Given the description of an element on the screen output the (x, y) to click on. 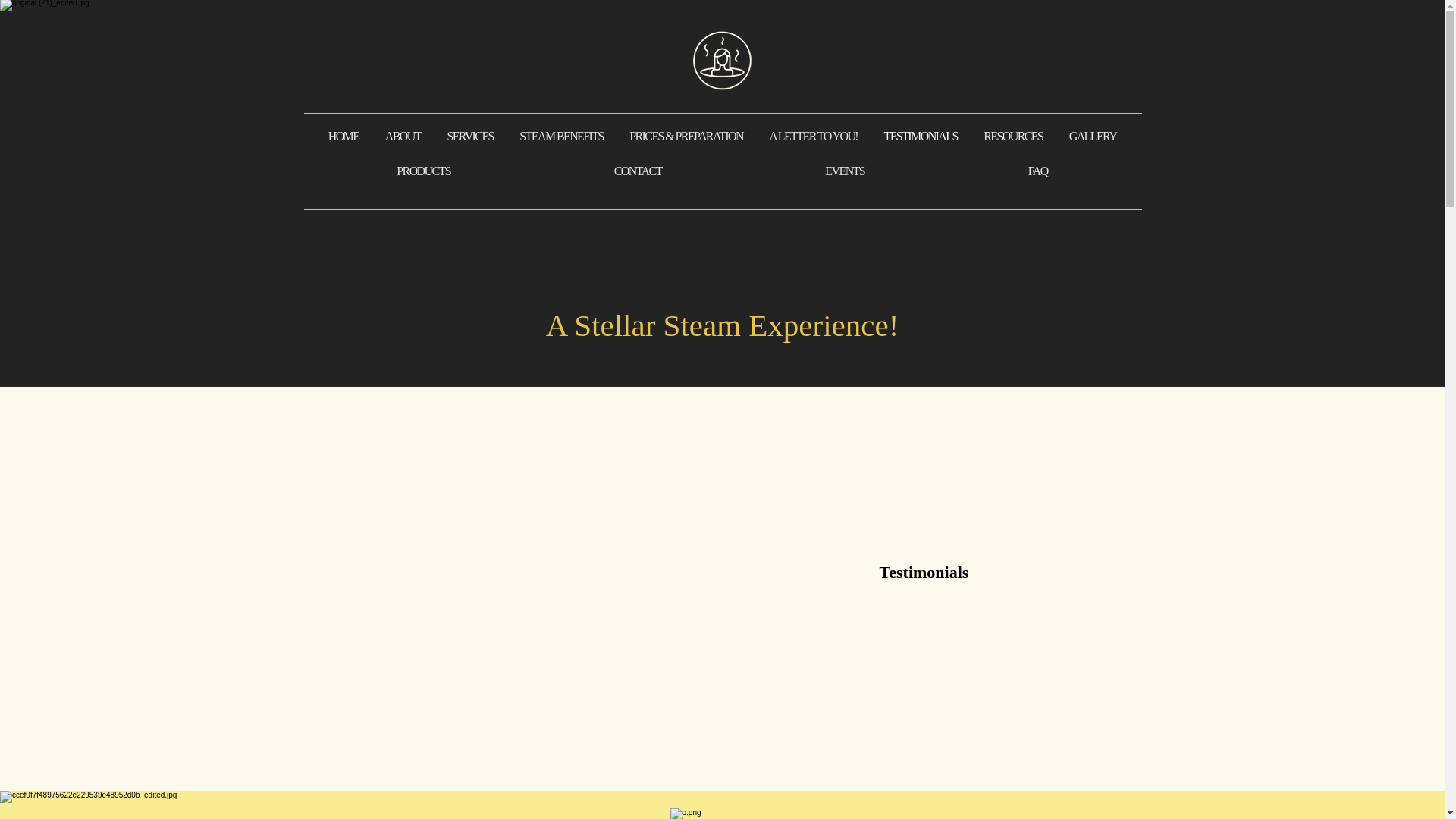
SERVICES (469, 136)
STEAM BENEFITS (560, 136)
RESOURCES (1013, 136)
TESTIMONIALS (920, 136)
GALLERY (1091, 136)
A LETTER TO YOU! (812, 136)
FAQ (1037, 171)
HOME (343, 136)
EVENTS (844, 171)
PRODUCTS (423, 171)
